Given the description of an element on the screen output the (x, y) to click on. 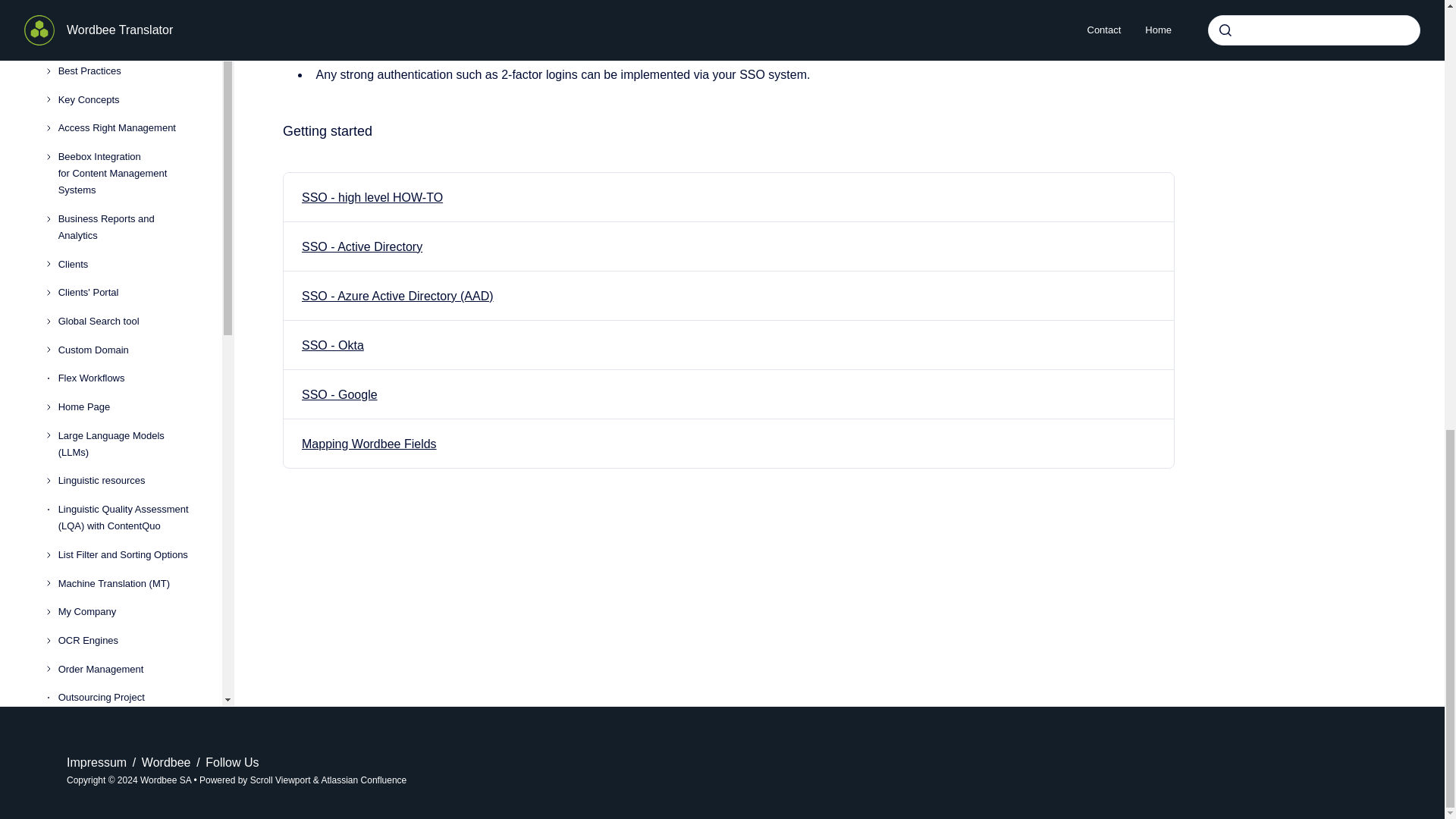
SSO - Active Directory (361, 246)
SSO - Google (339, 394)
Mapping Wordbee Fields (368, 443)
SSO - high level HOW-TO (371, 196)
SSO - Okta (332, 345)
